Given the description of an element on the screen output the (x, y) to click on. 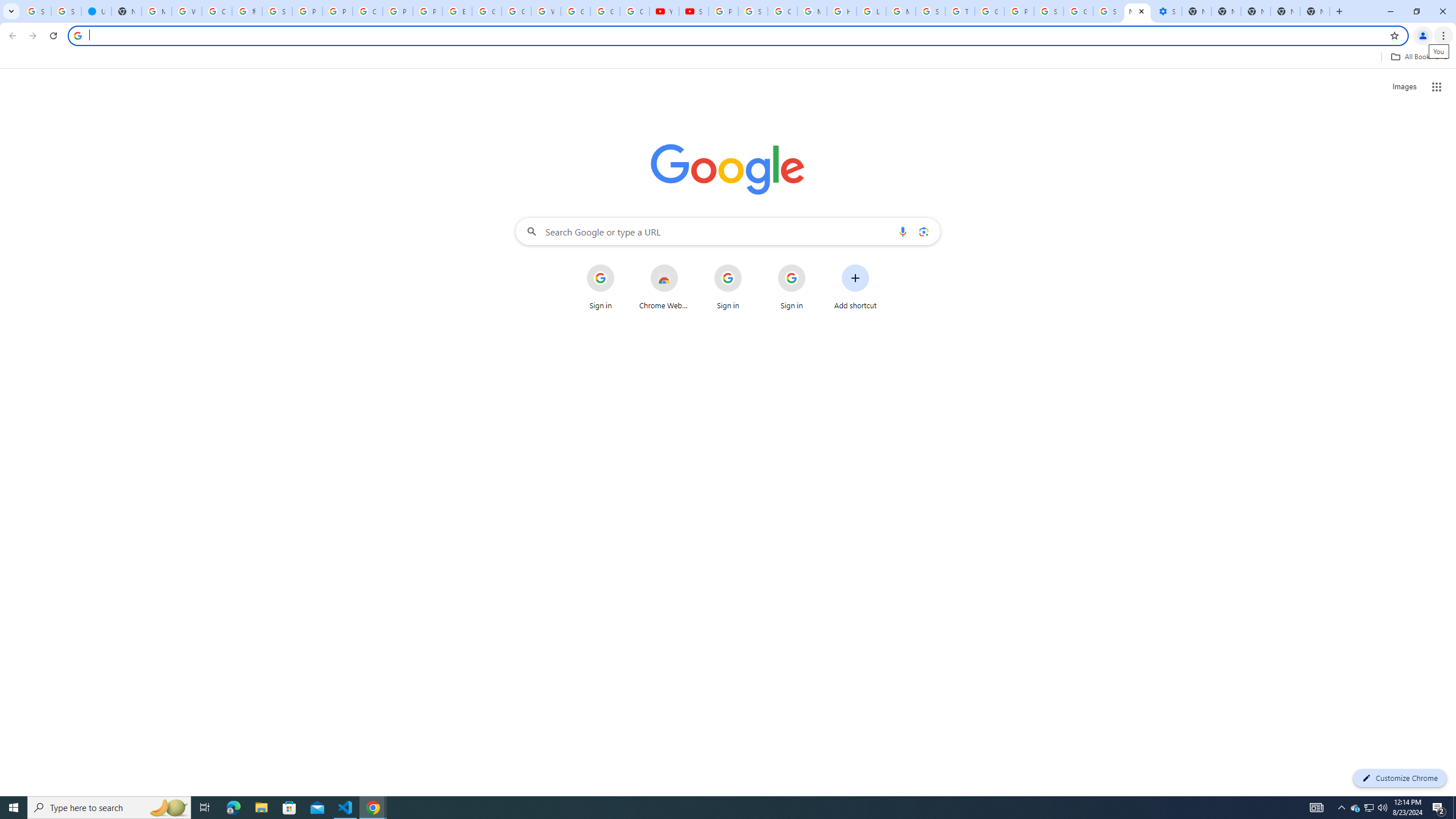
Google Cybersecurity Innovations - Google Safety Center (1077, 11)
Search our Doodle Library Collection - Google Doodles (930, 11)
Sign in - Google Accounts (1048, 11)
More actions for Sign in shortcut (814, 265)
Sign in - Google Accounts (753, 11)
Settings - Performance (1166, 11)
